Given the description of an element on the screen output the (x, y) to click on. 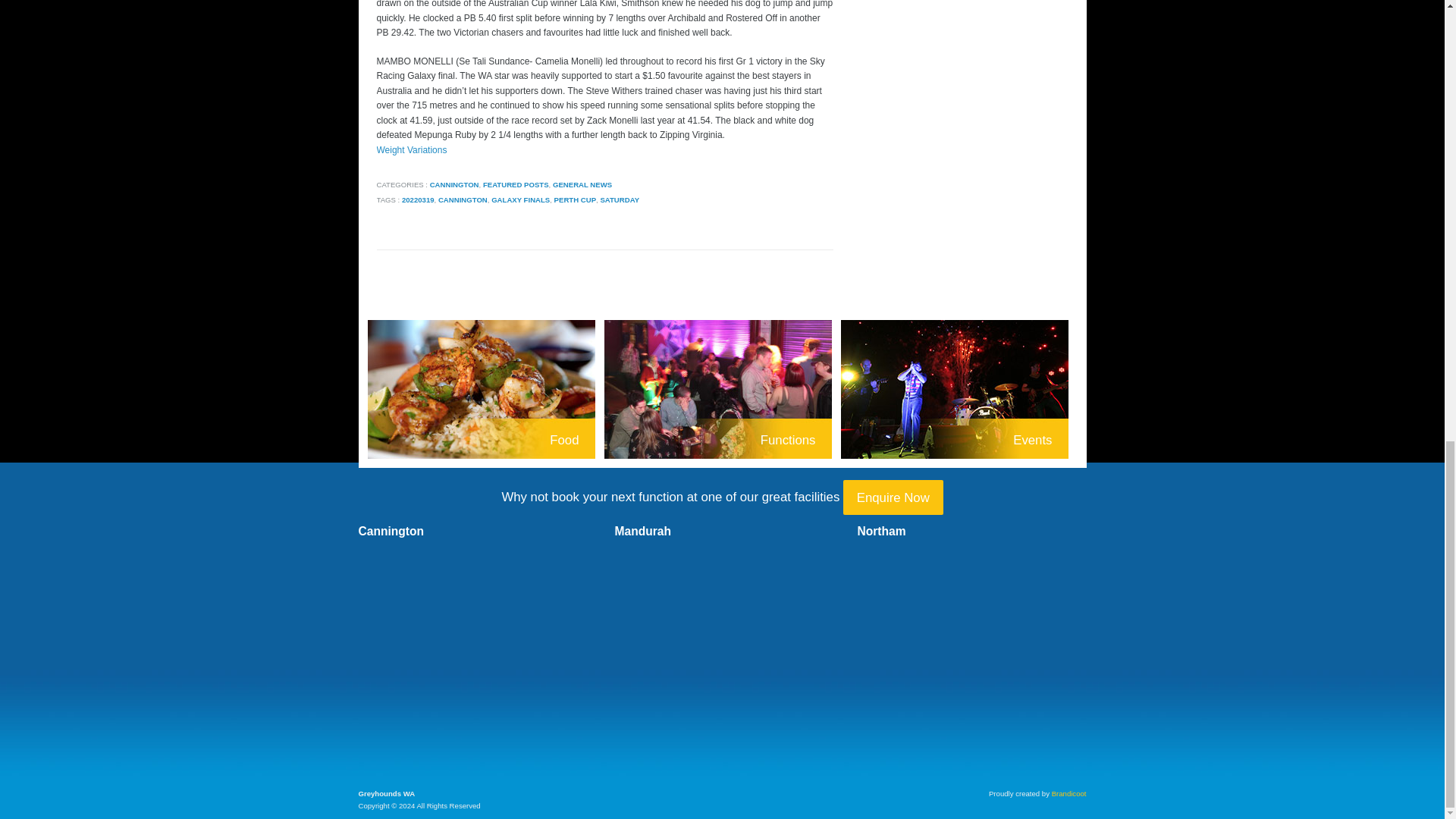
GALAXY FINALS (521, 199)
20220319 (417, 199)
CANNINGTON (462, 199)
Special Events - Greyhounds WA (958, 390)
GENERAL NEWS (582, 184)
CANNINGTON (454, 184)
Weight Variations (410, 149)
Contact (893, 497)
SATURDAY (619, 199)
PERTH CUP (574, 199)
